Given the description of an element on the screen output the (x, y) to click on. 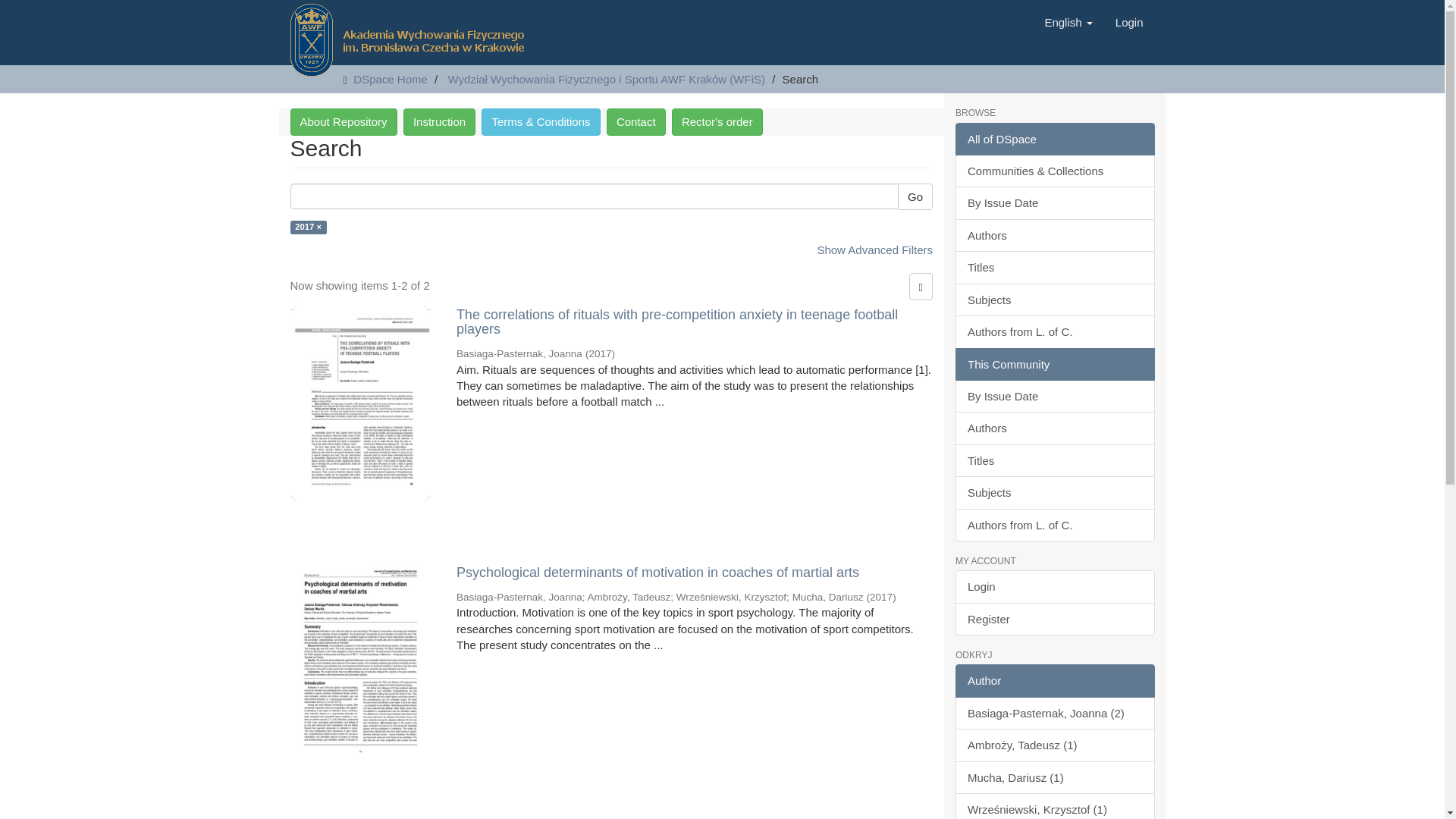
Login (1128, 22)
Rector's order (716, 121)
Instruction (439, 121)
Contact (636, 121)
regulamin (540, 121)
Show Advanced Filters (874, 249)
About Repository (342, 121)
kontakt (636, 121)
Go (915, 196)
English  (1067, 22)
o repozytorium (342, 121)
DSpace Home (390, 78)
instrukcja deponowania (439, 121)
